Given the description of an element on the screen output the (x, y) to click on. 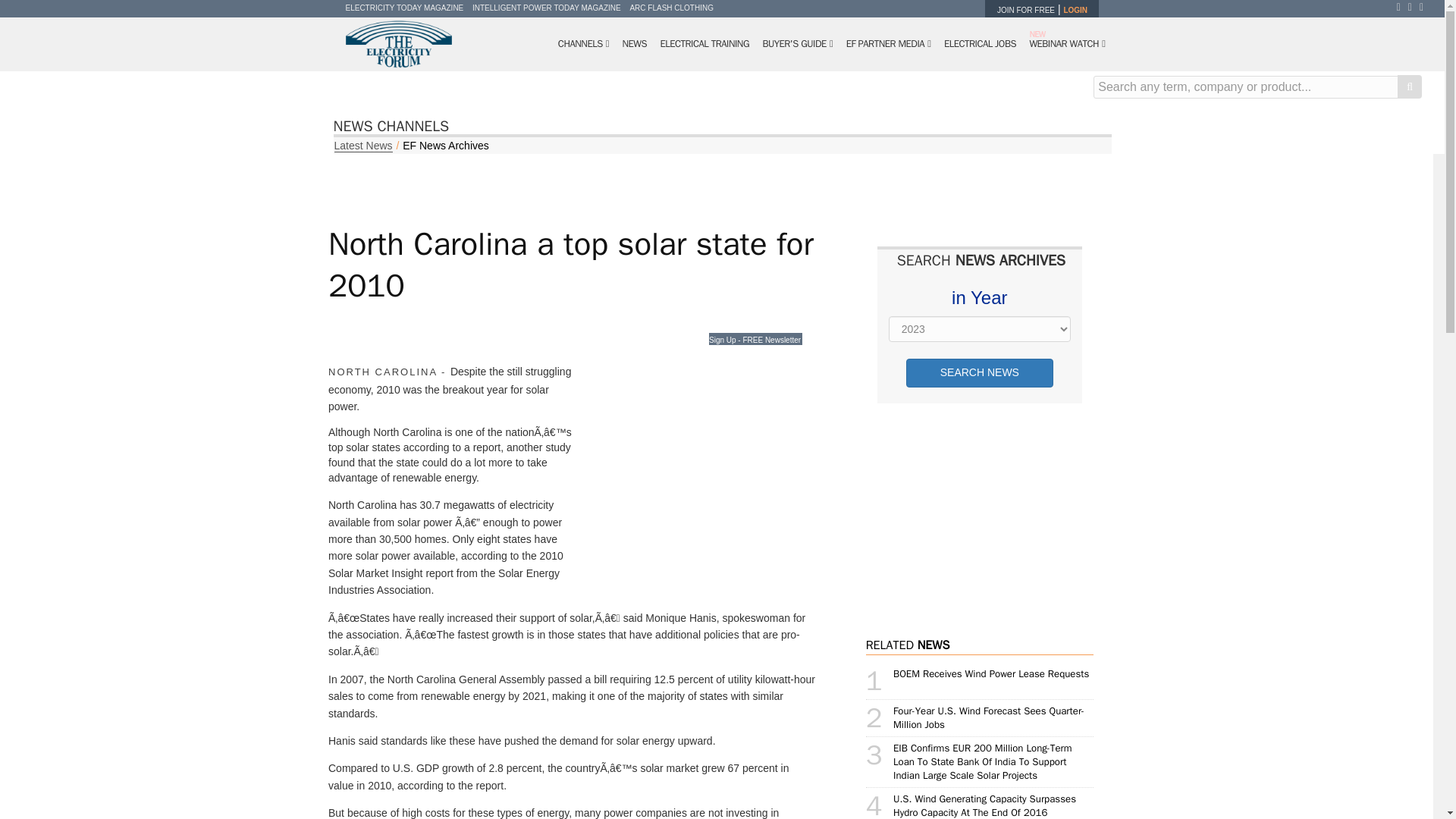
BOEM Receives Wind Power Lease Requests (991, 673)
Facebook (1401, 6)
WEBINAR WATCH (1066, 44)
INTELLIGENT POWER TODAY MAGAZINE (546, 8)
Advertisement (991, 511)
BUYER'S GUIDE (797, 44)
LOGIN (1074, 9)
Sign Up - FREE Newsletter (755, 338)
ELECTRICAL TRAINING (703, 44)
ELECTRICITY TODAY MAGAZINE (405, 8)
Latest News (362, 145)
SEARCH NEWS (978, 372)
EF News Archives (446, 145)
EF PARTNER MEDIA (888, 44)
JOIN FOR FREE (1025, 9)
